Given the description of an element on the screen output the (x, y) to click on. 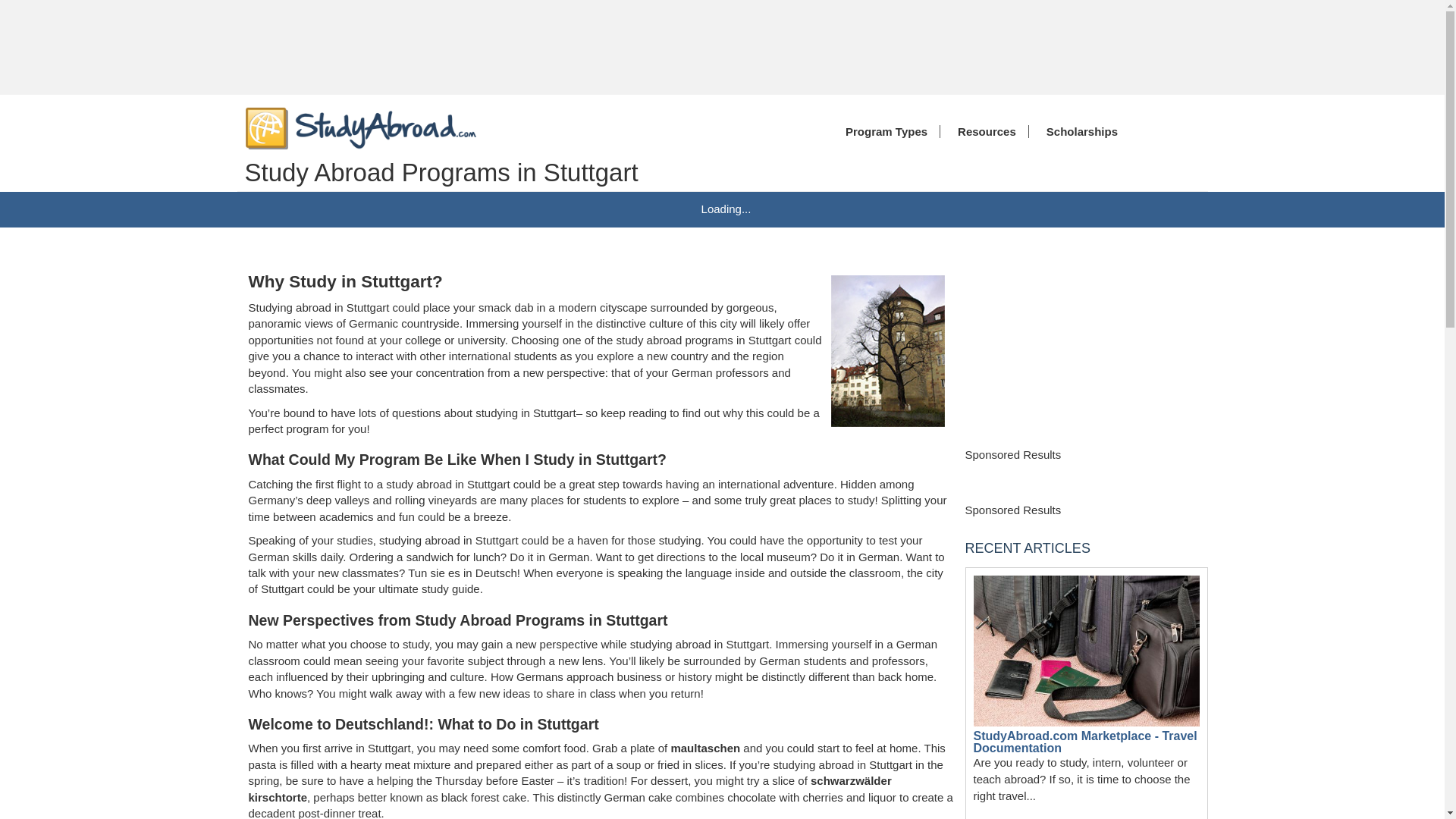
Resources (983, 131)
Program Types (883, 131)
StudyAbroad.com (360, 126)
StudyAbroad.com Marketplace - Travel Documentation (1085, 741)
Scholarships (1078, 131)
Sponsored Results (1012, 509)
Sponsored Results (1012, 454)
